Given the description of an element on the screen output the (x, y) to click on. 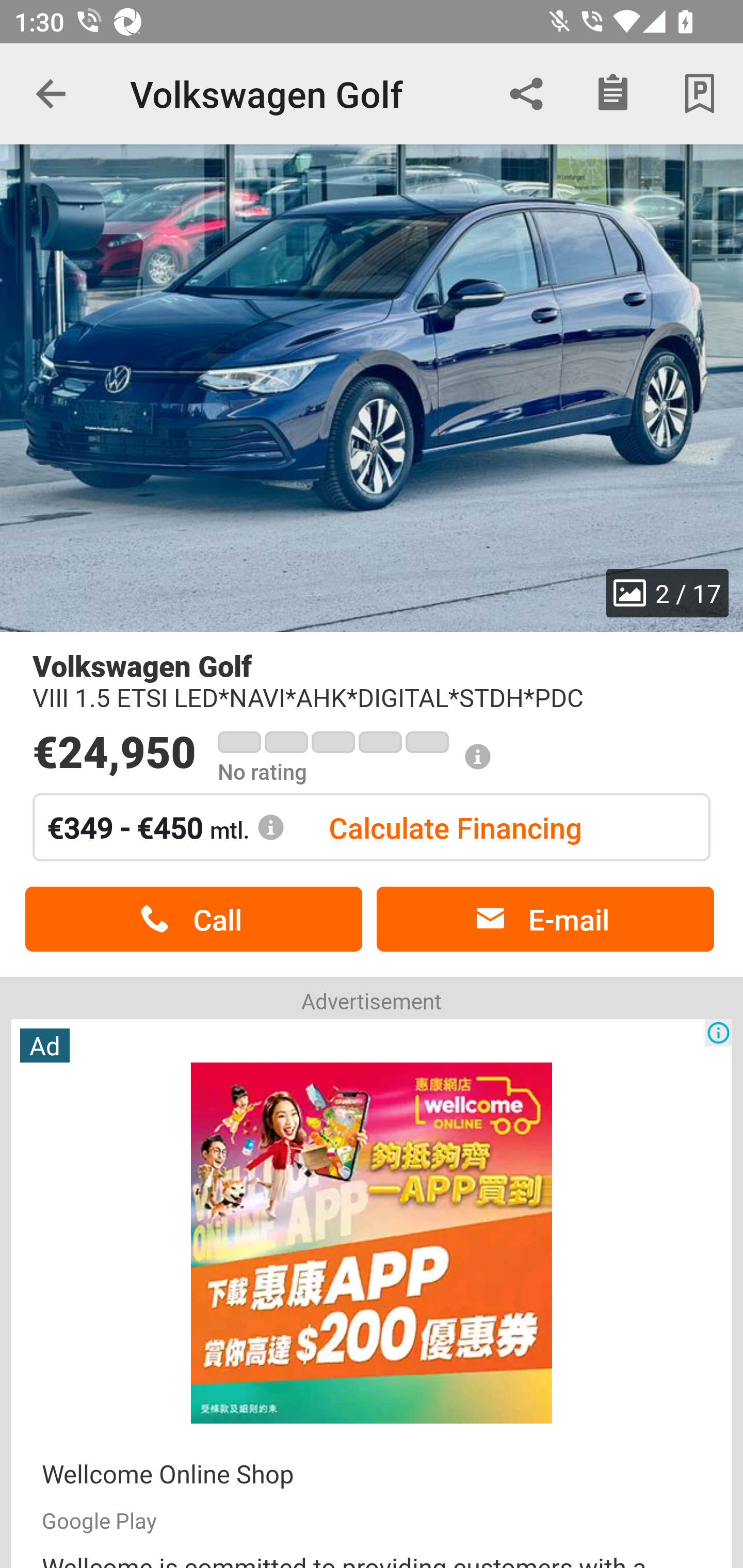
Navigate up (50, 93)
Share via (525, 93)
Checklist (612, 93)
Park (699, 93)
Calculate Financing (454, 826)
€349 - €450 mtl. (165, 826)
Call (193, 919)
E-mail (545, 919)
Ad Choices Icon (718, 1032)
Wellcome Online Shop (167, 1473)
Google Play (98, 1520)
